Given the description of an element on the screen output the (x, y) to click on. 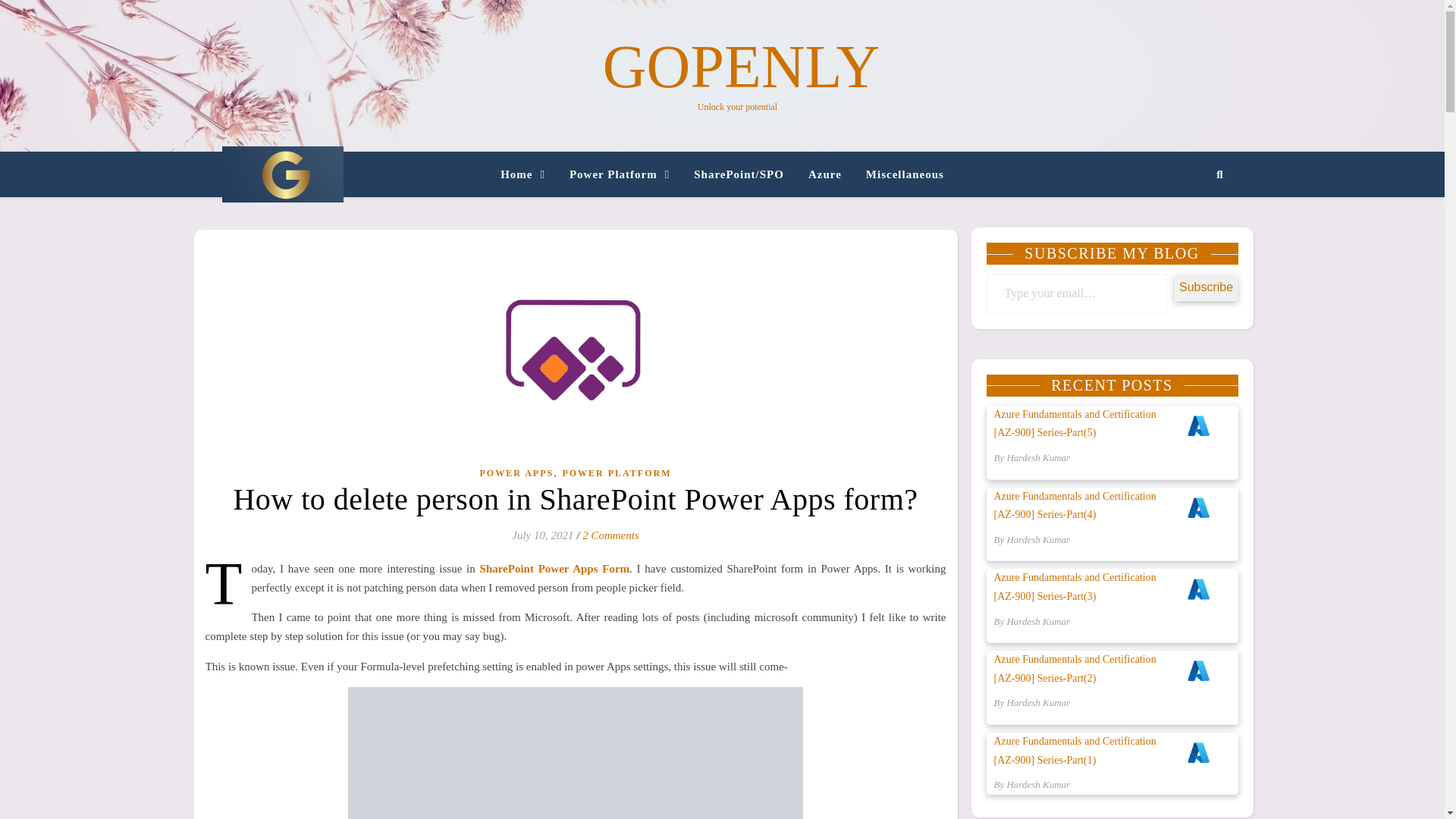
2 Comments (610, 535)
Power Platform (619, 174)
POWER APPS (516, 473)
Gopenly (281, 174)
POWER PLATFORM (616, 473)
Azure (824, 174)
Home (528, 174)
Miscellaneous (898, 174)
Please fill in this field. (1076, 293)
